Given the description of an element on the screen output the (x, y) to click on. 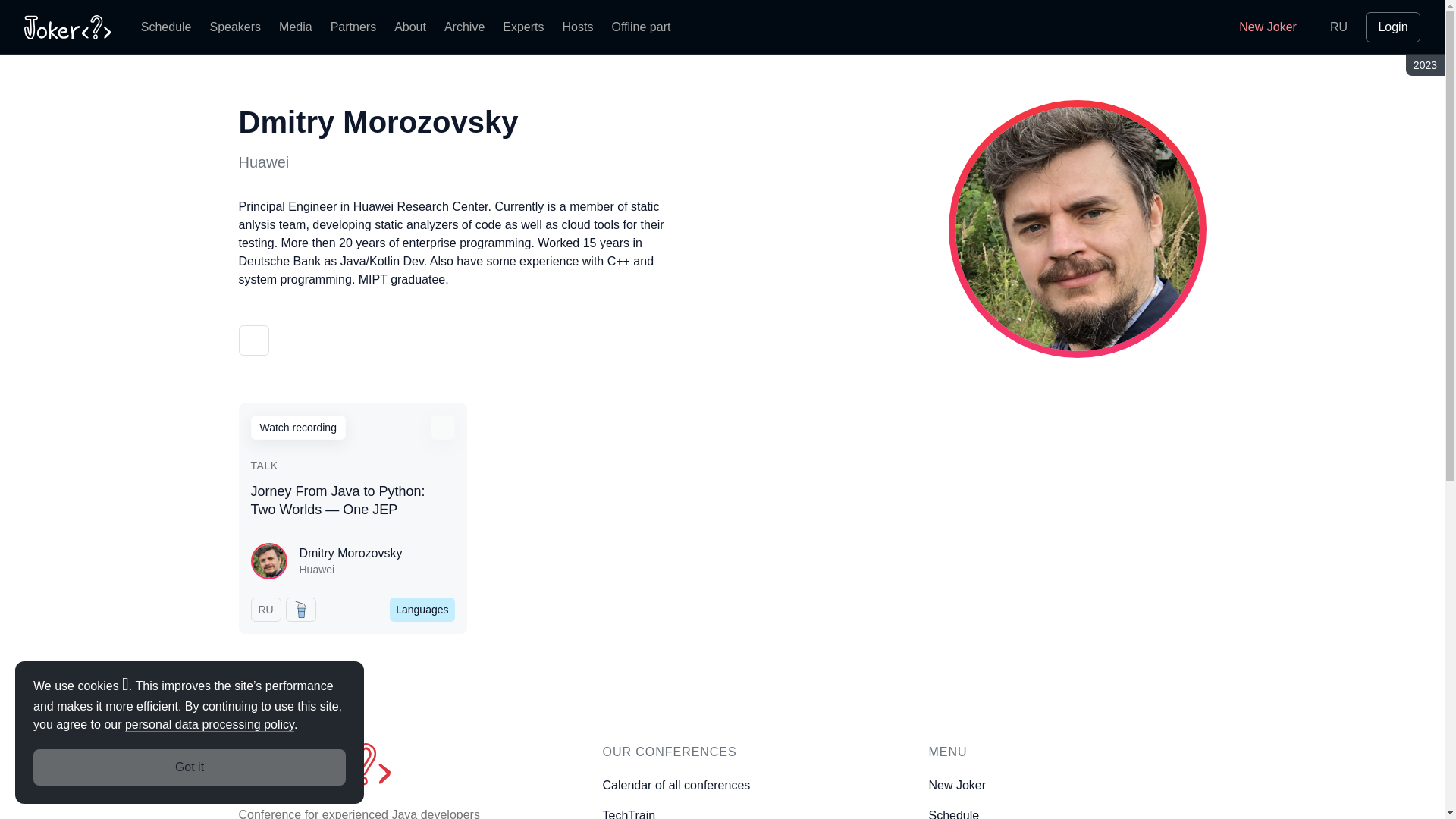
Offline part (640, 27)
Hosts (577, 27)
New Joker (1257, 27)
Media (295, 27)
Languages (422, 609)
RU (1338, 27)
Archive (464, 27)
Dmitry Morozovsky (349, 553)
Speakers (234, 27)
Talk complexity - (300, 609)
Experts (523, 27)
Schedule (166, 27)
Partners (353, 27)
About (410, 27)
Login (1393, 27)
